Given the description of an element on the screen output the (x, y) to click on. 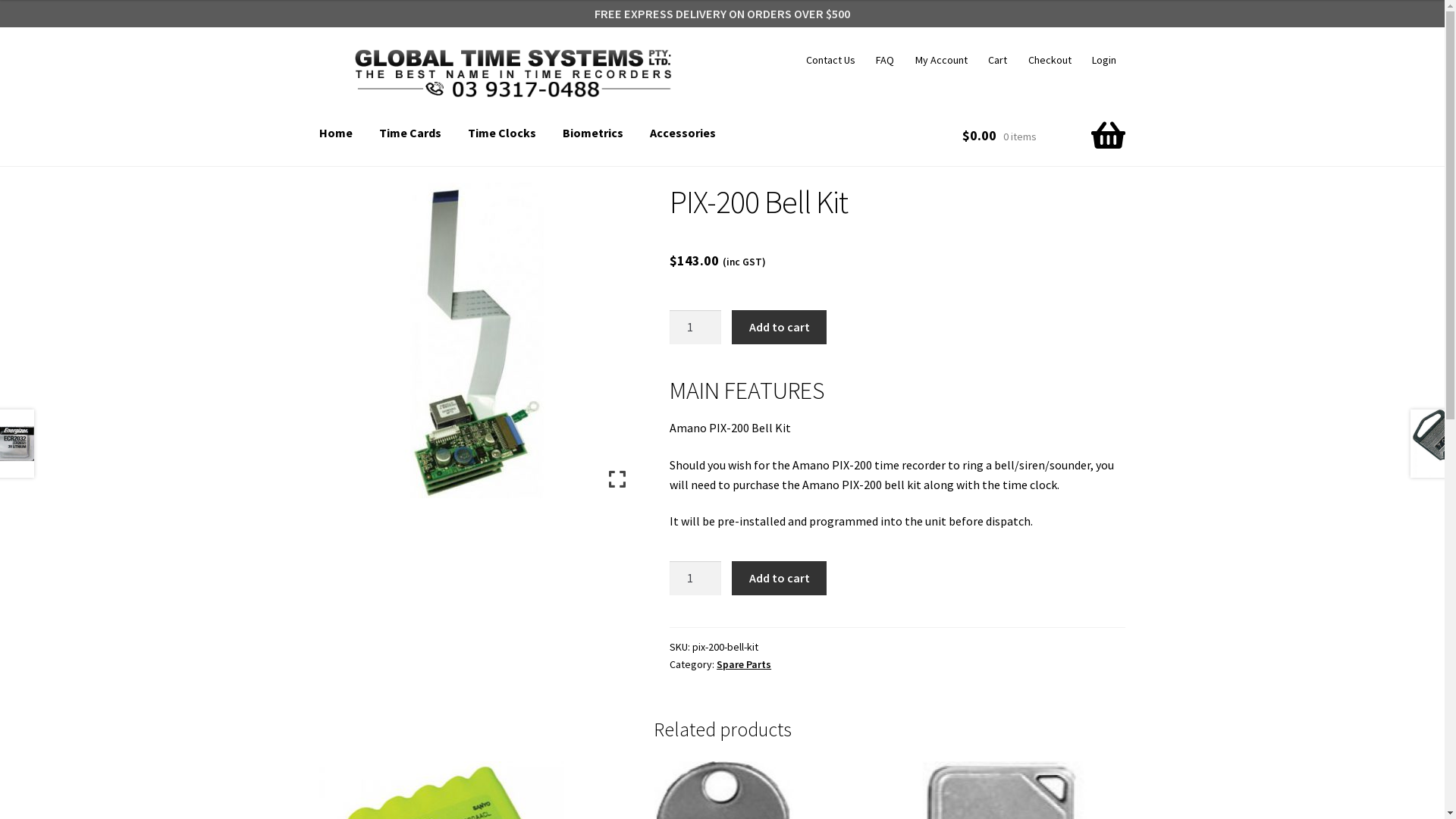
Add to cart Element type: text (778, 578)
Login Element type: text (1104, 59)
Qty Element type: hover (695, 327)
Spare Parts Element type: text (743, 664)
Add to cart Element type: text (778, 327)
Cart Element type: text (997, 59)
Time Cards Element type: text (410, 132)
Biometrics Element type: text (592, 132)
pix-200-bell Element type: hover (476, 340)
Accessories Element type: text (682, 132)
Time Clocks Element type: text (501, 132)
Home Element type: text (335, 132)
My Account Element type: text (940, 59)
Checkout Element type: text (1049, 59)
Qty Element type: hover (695, 578)
$0.00 0 items Element type: text (1043, 135)
Contact Us Element type: text (830, 59)
FAQ Element type: text (884, 59)
